Given the description of an element on the screen output the (x, y) to click on. 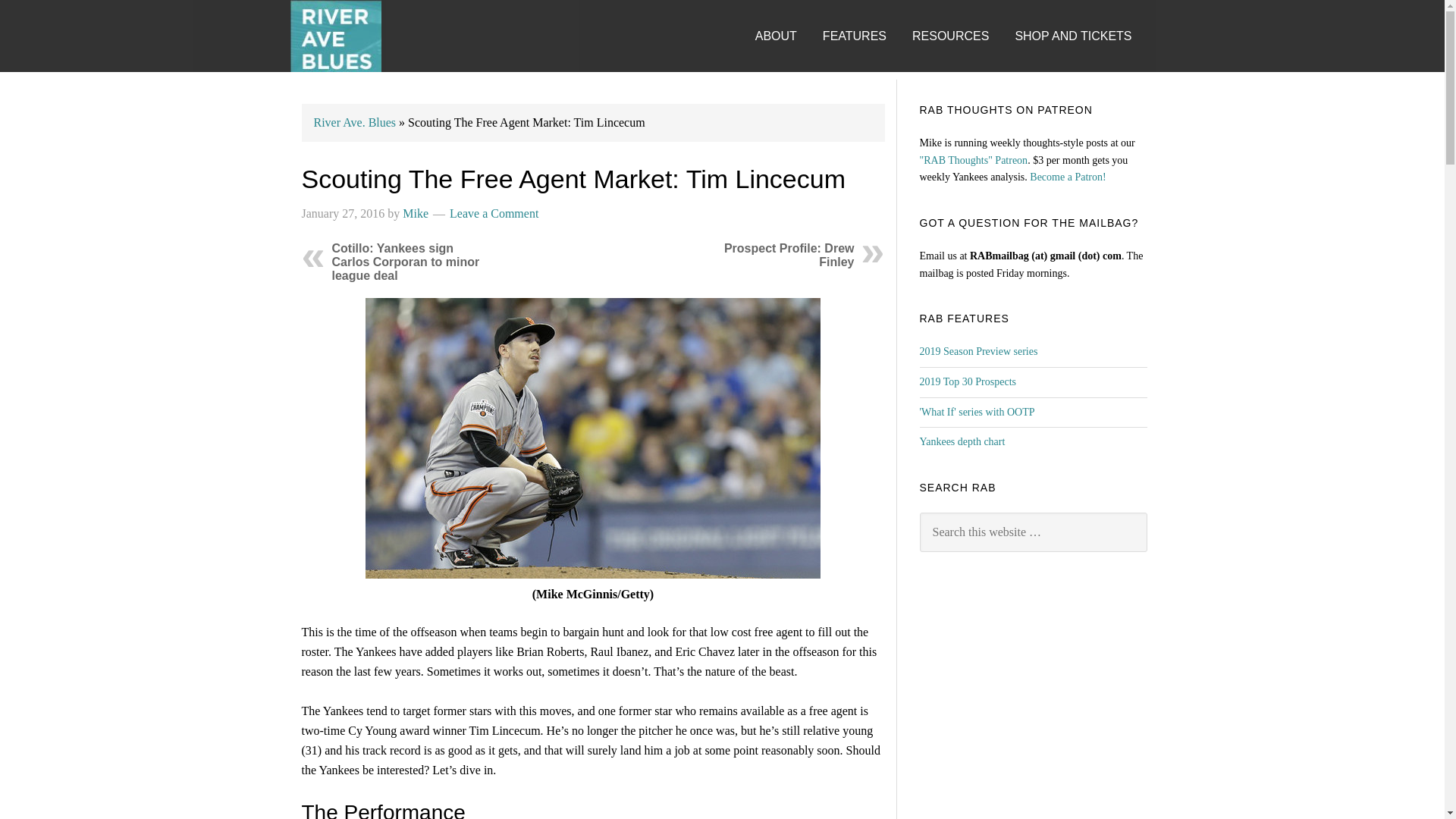
Leave a Comment (493, 213)
FEATURES (865, 21)
River Ave. Blues (355, 122)
RESOURCES (961, 21)
SHOP AND TICKETS (1084, 21)
Cotillo: Yankees sign Carlos Corporan to minor league deal (405, 261)
2019 Season Preview series (977, 351)
"RAB Thoughts" Patreon (972, 160)
RIVER AVENUE BLUES (334, 36)
Prospect Profile: Drew Finley (788, 254)
Become a Patron! (1067, 176)
ABOUT (787, 21)
Mike (415, 213)
